Given the description of an element on the screen output the (x, y) to click on. 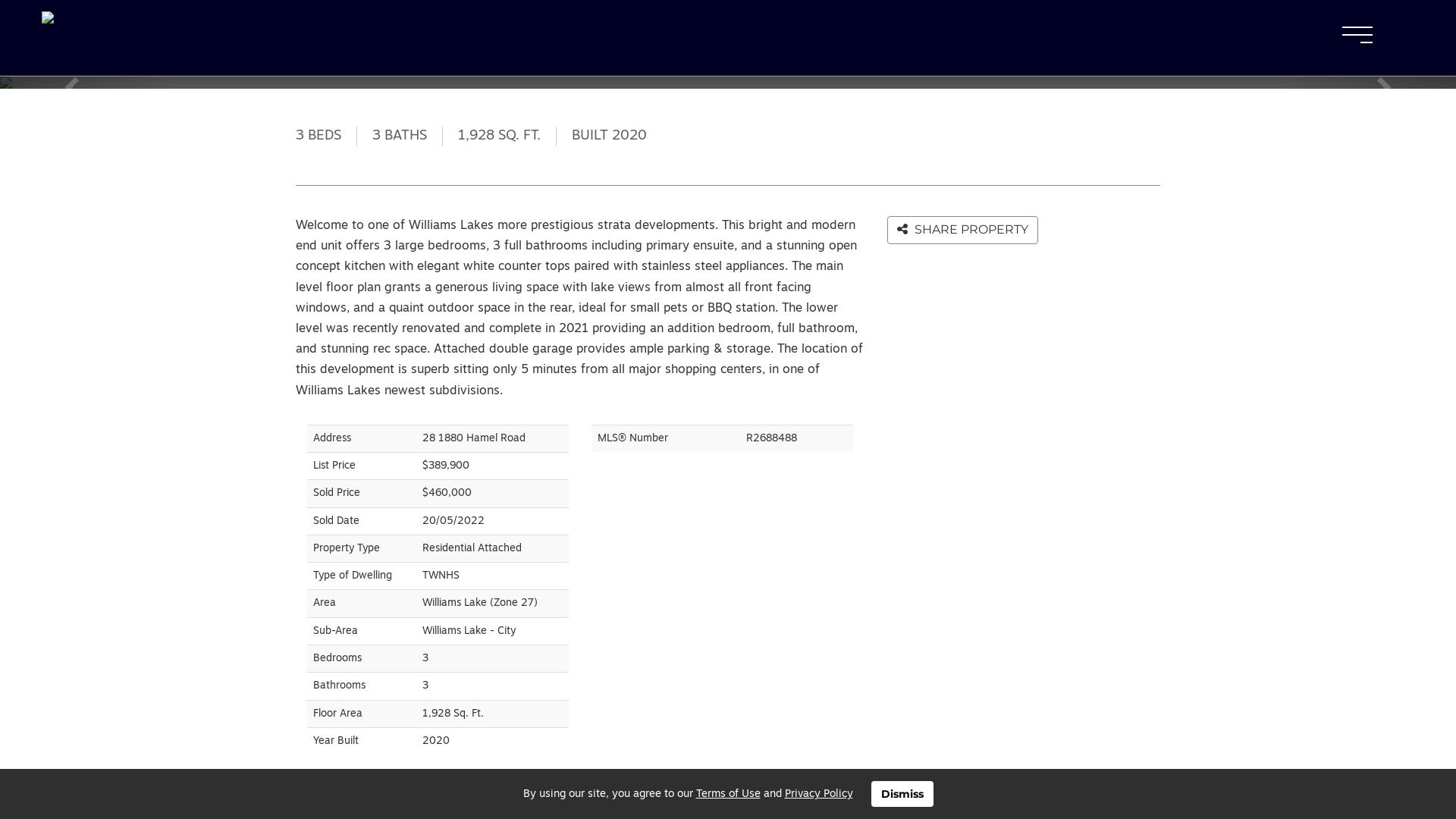
Terms of Use Element type: text (728, 794)
Previous Element type: text (87, 82)
Dismiss Element type: text (901, 793)
SHARE PROPERTY Element type: text (962, 230)
Privacy Policy Element type: text (818, 794)
